Given the description of an element on the screen output the (x, y) to click on. 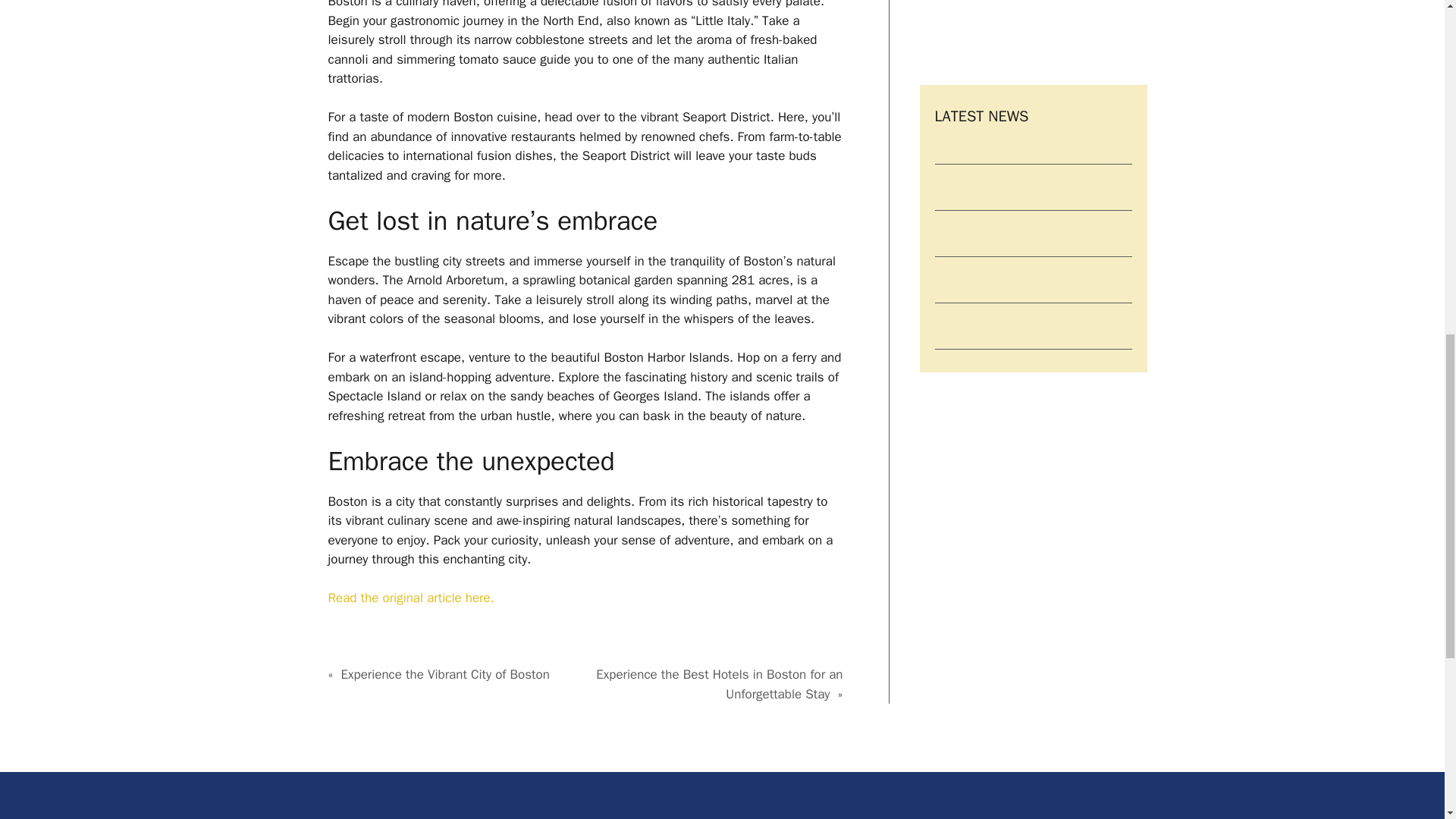
Experience the Vibrant City of Boston (444, 674)
Read the original article here. (410, 597)
